Given the description of an element on the screen output the (x, y) to click on. 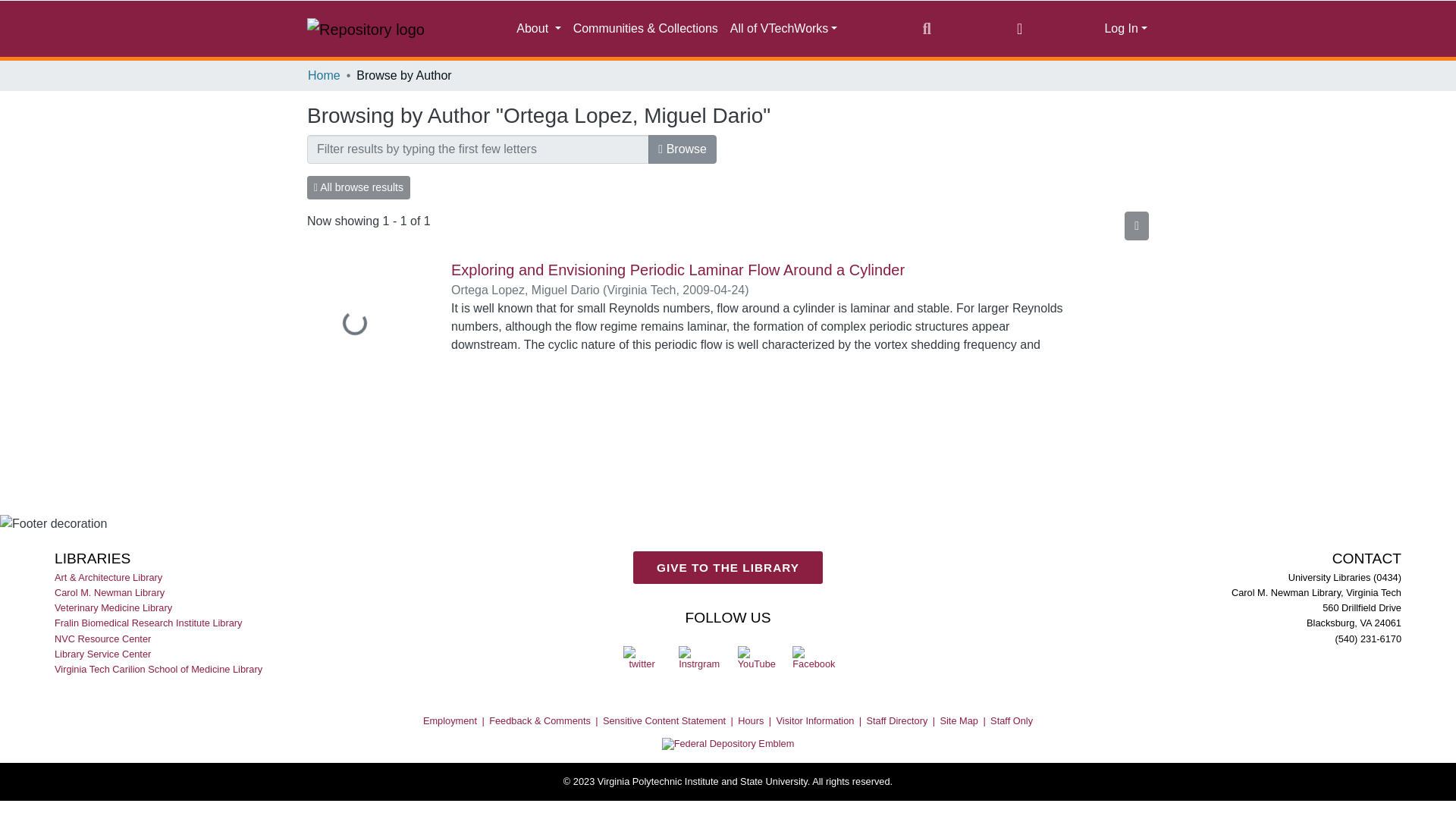
About (538, 28)
Browse (681, 149)
Home (323, 75)
Search (926, 28)
Log In (1125, 28)
All browse results (358, 187)
Language switch (1019, 28)
All of VTechWorks (783, 28)
Pagination options (1136, 225)
